Given the description of an element on the screen output the (x, y) to click on. 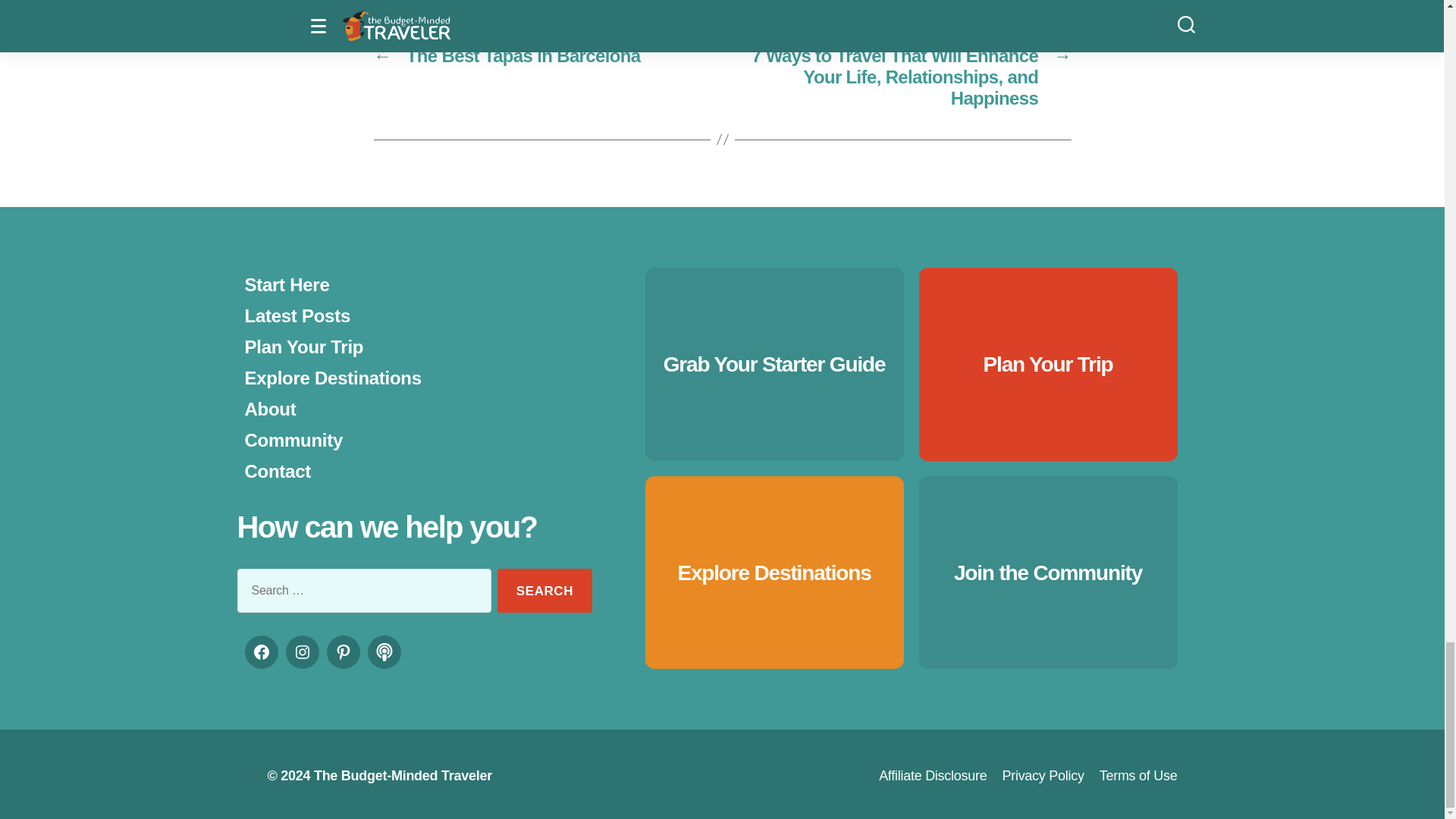
Latest Posts (296, 315)
About (269, 408)
Plan Your Trip (303, 346)
Explore Destinations (332, 377)
Start Here (286, 284)
Search (544, 590)
Search (544, 590)
